Given the description of an element on the screen output the (x, y) to click on. 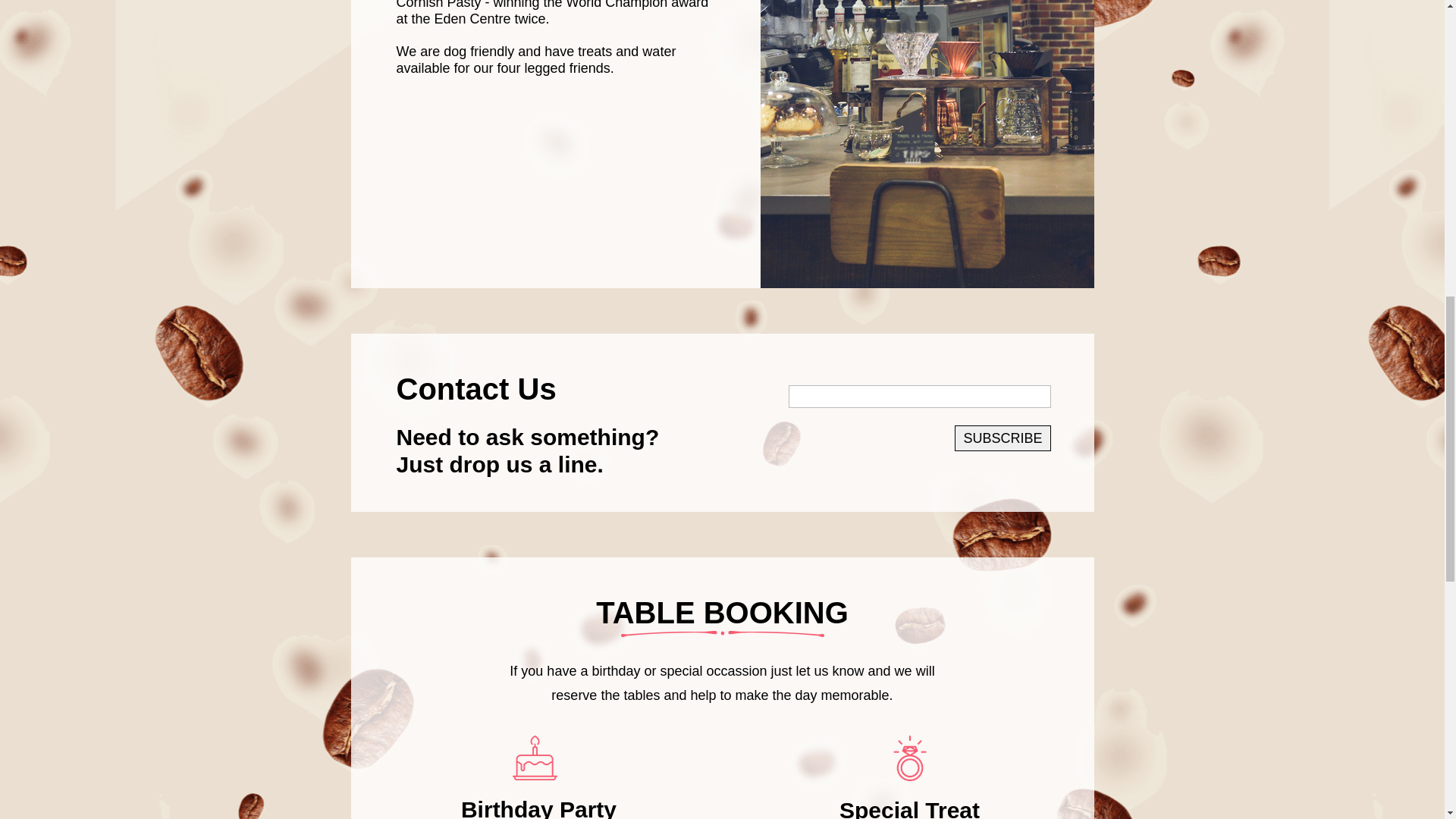
SUBSCRIBE (1002, 438)
SUBSCRIBE (1002, 438)
